Given the description of an element on the screen output the (x, y) to click on. 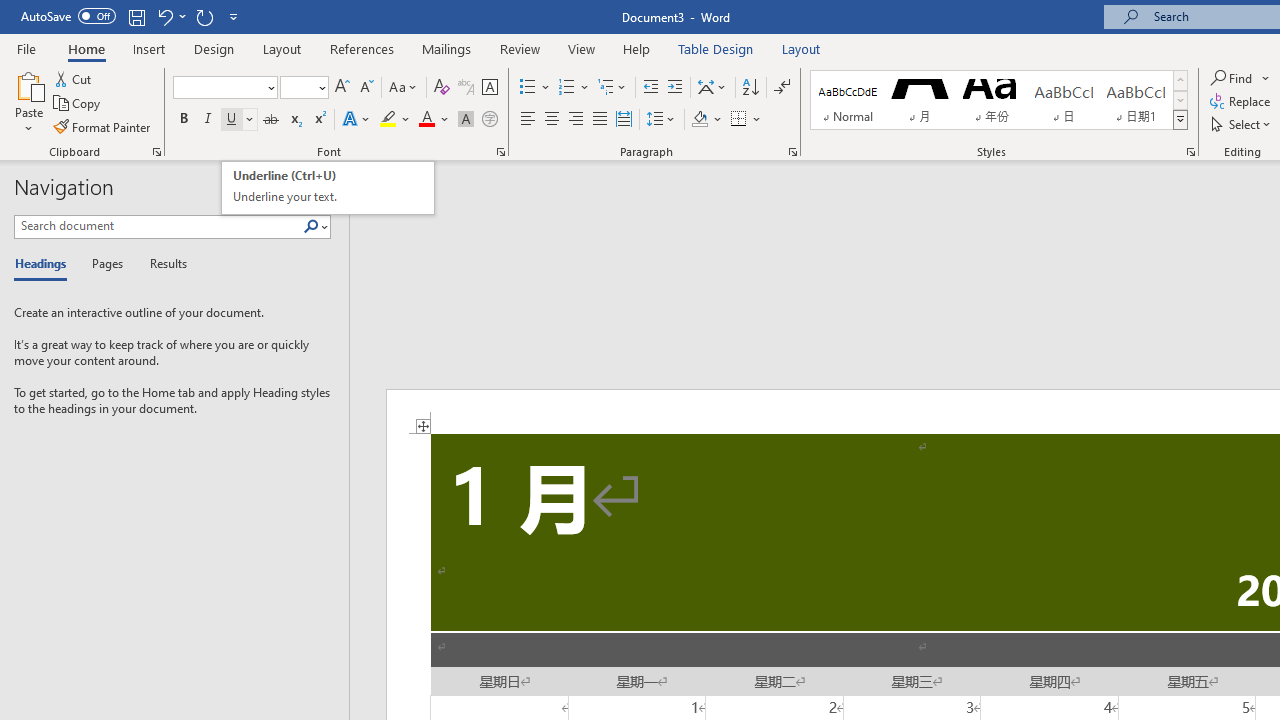
Justify (599, 119)
Text Highlight Color Yellow (388, 119)
Search document (157, 226)
Copy (78, 103)
AutomationID: QuickStylesGallery (999, 99)
